Given the description of an element on the screen output the (x, y) to click on. 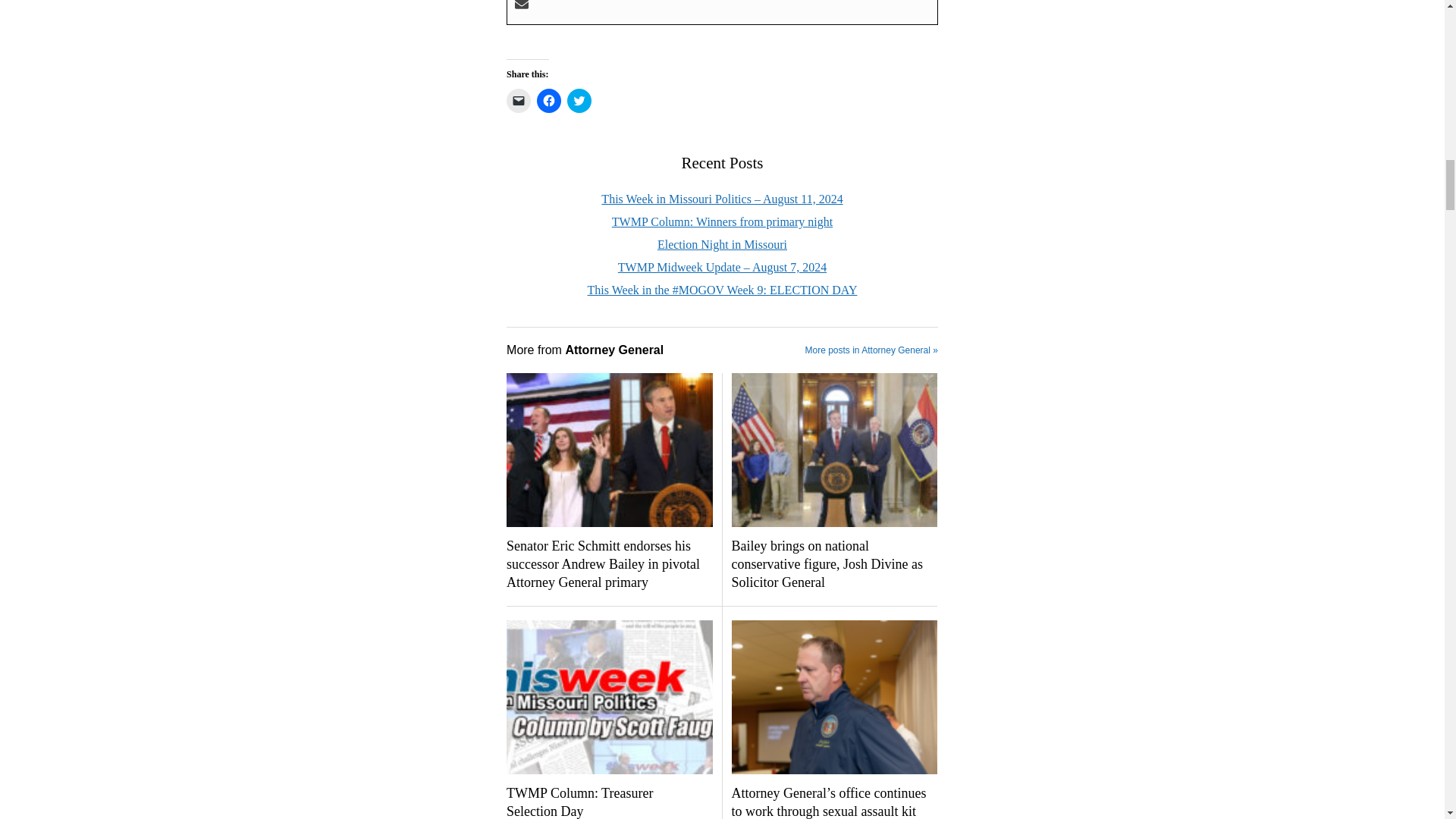
Click to email a link to a friend (518, 100)
Click to share on Facebook (548, 100)
Election Night in Missouri (722, 244)
User email (521, 6)
Click to share on Twitter (579, 100)
TWMP Column: Winners from primary night (721, 221)
